Given the description of an element on the screen output the (x, y) to click on. 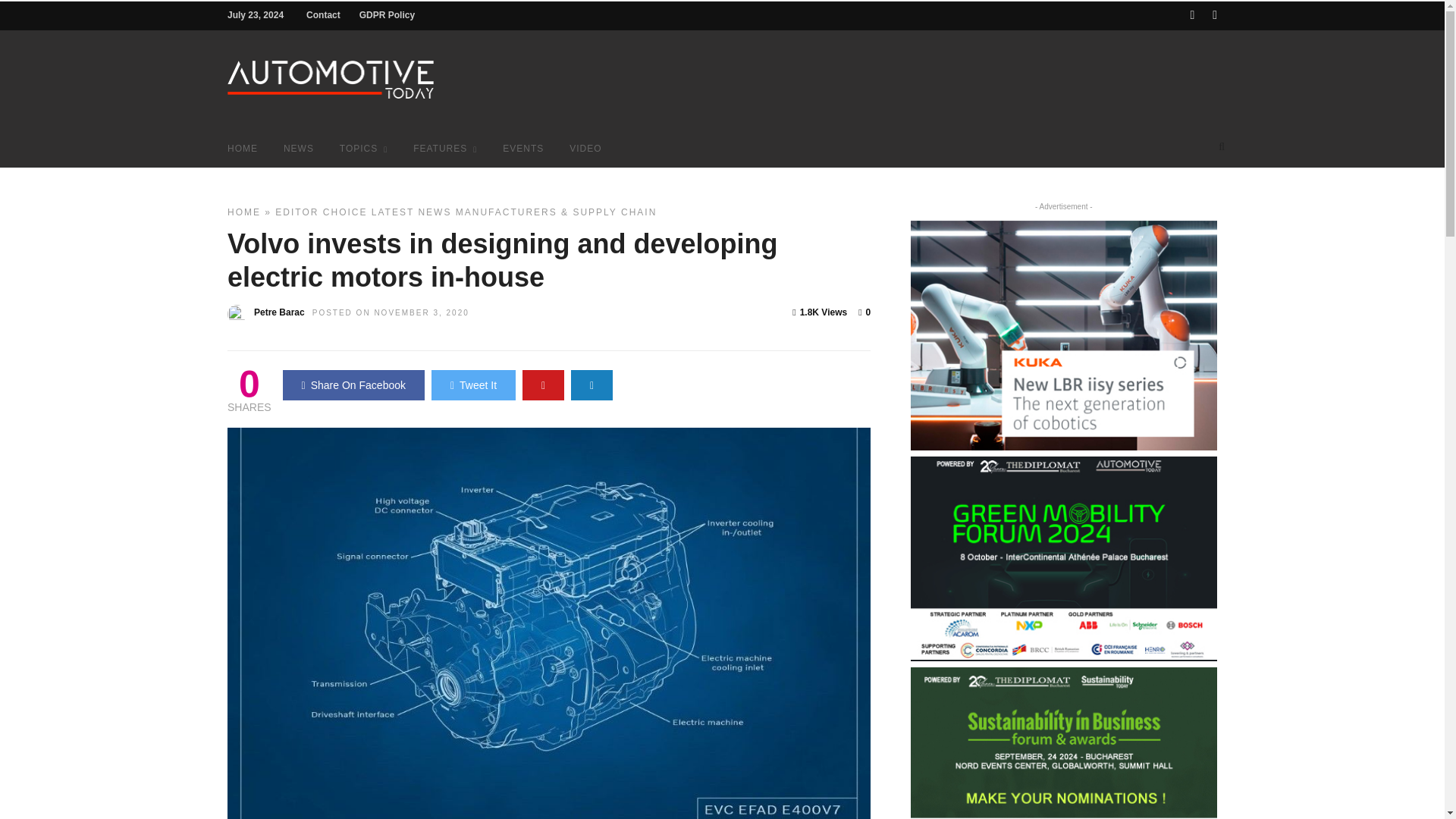
Share by Email (591, 385)
Share On Pinterest (543, 385)
Share On Twitter (472, 385)
Share On Facebook (353, 385)
Linkedin (1214, 15)
